Given the description of an element on the screen output the (x, y) to click on. 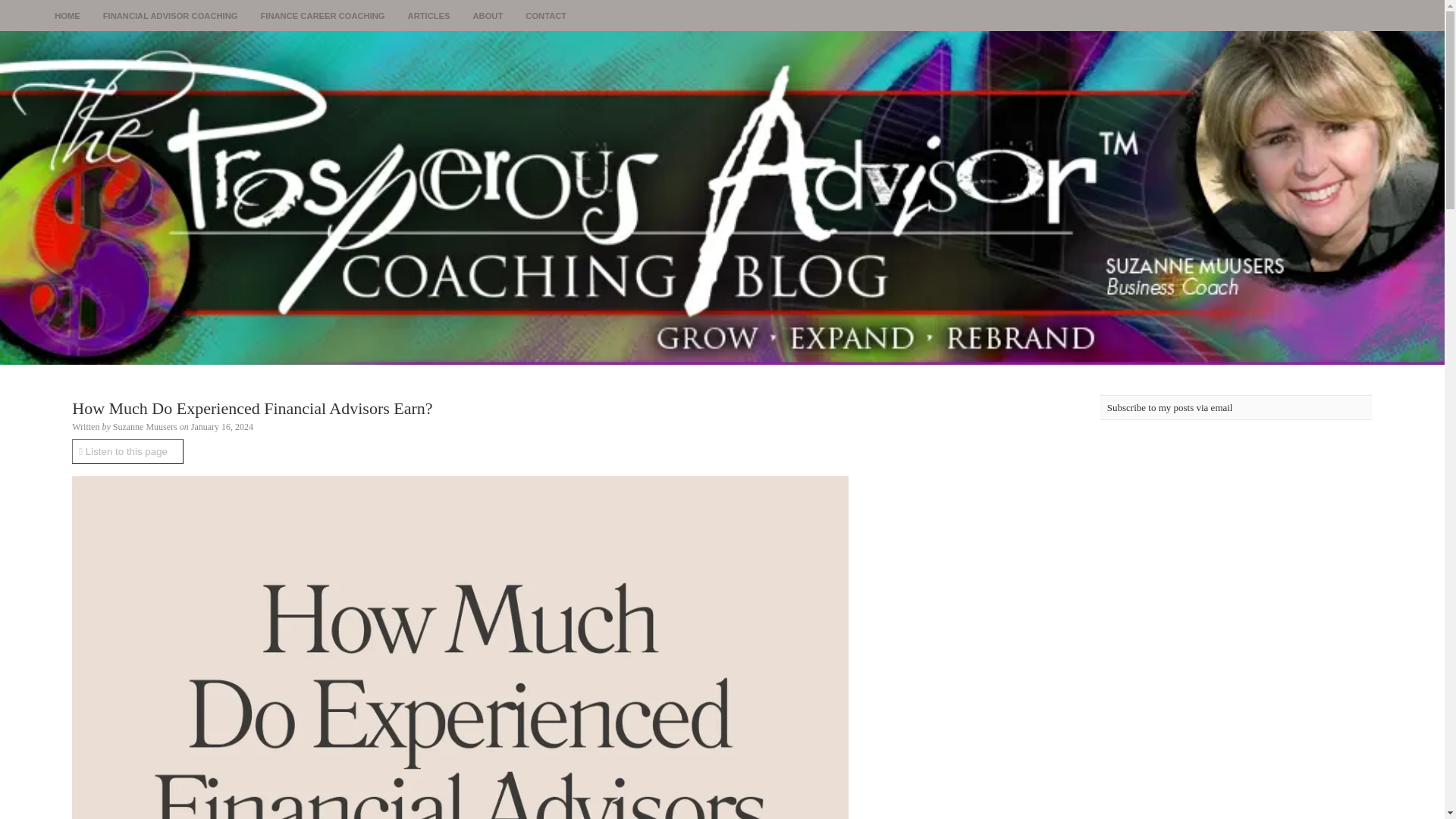
2024-01-16T18:09:37-0600 (221, 426)
FINANCE CAREER COACHING (322, 16)
FINANCIAL ADVISOR COACHING (169, 16)
ARTICLES (428, 16)
HOME (67, 16)
CONTACT (545, 16)
ABOUT (487, 16)
Suzanne Muusers (145, 426)
